Given the description of an element on the screen output the (x, y) to click on. 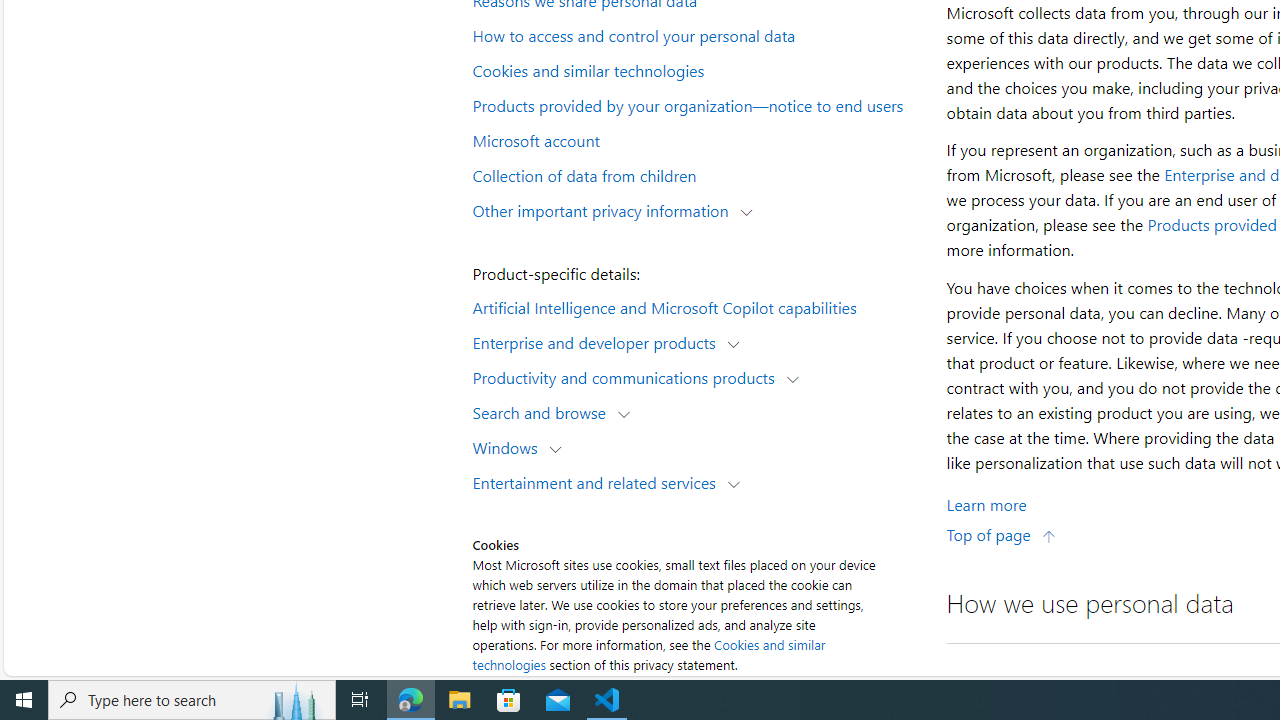
Windows (509, 446)
